Given the description of an element on the screen output the (x, y) to click on. 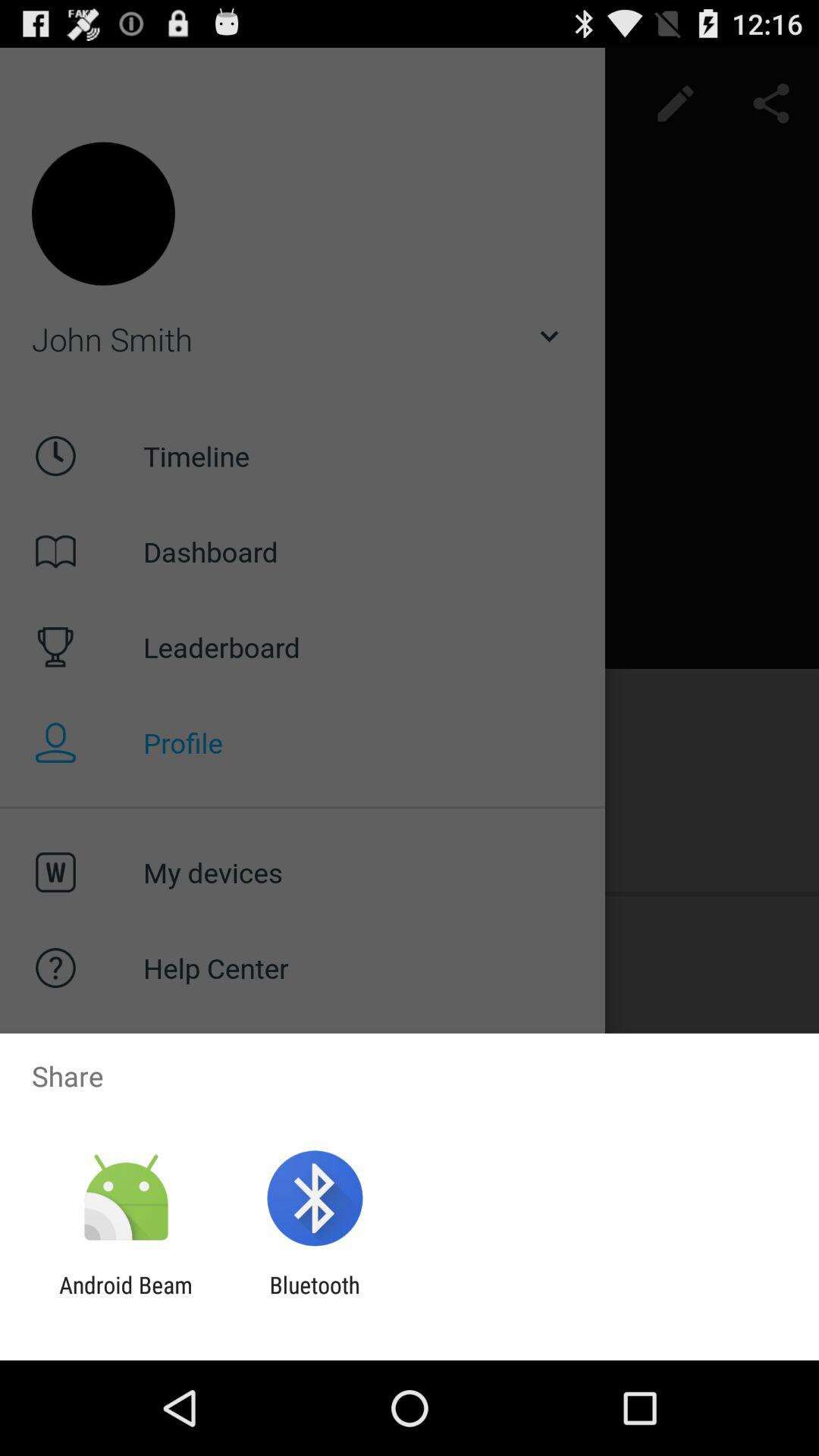
scroll to android beam item (125, 1298)
